Given the description of an element on the screen output the (x, y) to click on. 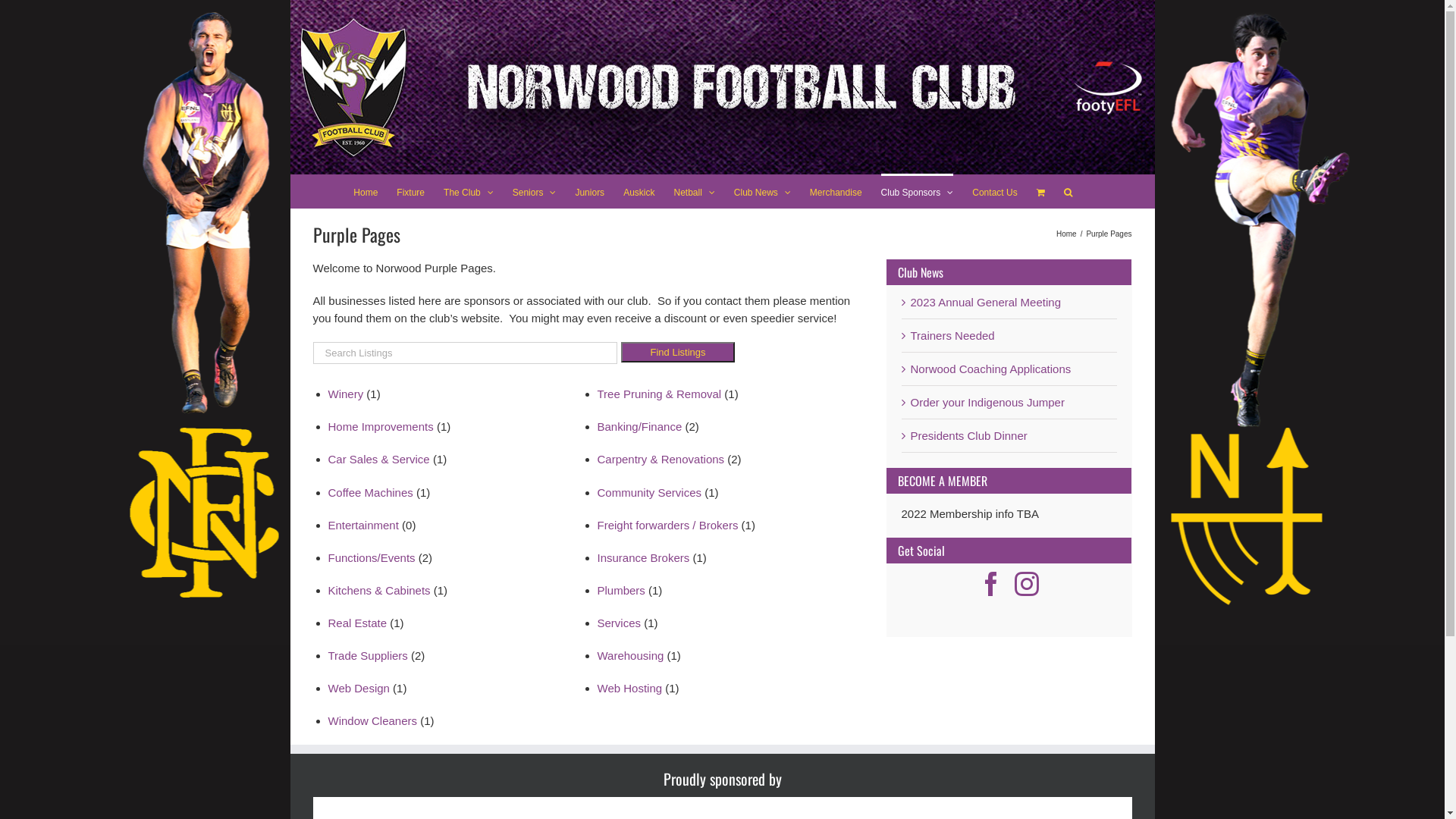
Services Element type: text (619, 622)
Merchandise Element type: text (835, 190)
Home Element type: text (365, 190)
Find Listings Element type: text (677, 352)
Netball Element type: text (693, 190)
Kitchens & Cabinets Element type: text (378, 589)
Freight forwarders / Brokers Element type: text (667, 524)
Banking/Finance Element type: text (639, 426)
Trainers Needed Element type: text (952, 335)
Tree Pruning & Removal Element type: text (659, 393)
2023 Annual General Meeting Element type: text (985, 301)
Contact Us Element type: text (994, 190)
Quick search keywords Element type: hover (464, 353)
Home Element type: text (1066, 233)
Search Element type: hover (1067, 190)
Trade Suppliers Element type: text (367, 655)
Presidents Club Dinner Element type: text (968, 435)
Coffee Machines Element type: text (369, 492)
Community Services Element type: text (649, 492)
Web Hosting Element type: text (629, 687)
Real Estate Element type: text (356, 622)
Home Improvements Element type: text (380, 426)
The Club Element type: text (468, 190)
Car Sales & Service Element type: text (378, 458)
Fixture Element type: text (410, 190)
Norwood Coaching Applications Element type: text (990, 368)
Carpentry & Renovations Element type: text (660, 458)
Window Cleaners Element type: text (372, 720)
Winery Element type: text (345, 393)
Club News Element type: text (762, 190)
Order your Indigenous Jumper Element type: text (986, 401)
Club Sponsors Element type: text (917, 190)
Insurance Brokers Element type: text (643, 557)
Auskick Element type: text (638, 190)
Entertainment Element type: text (362, 524)
Web Design Element type: text (358, 687)
Seniors Element type: text (534, 190)
Functions/Events Element type: text (370, 557)
Warehousing Element type: text (630, 655)
Plumbers Element type: text (621, 589)
Juniors Element type: text (589, 190)
